Given the description of an element on the screen output the (x, y) to click on. 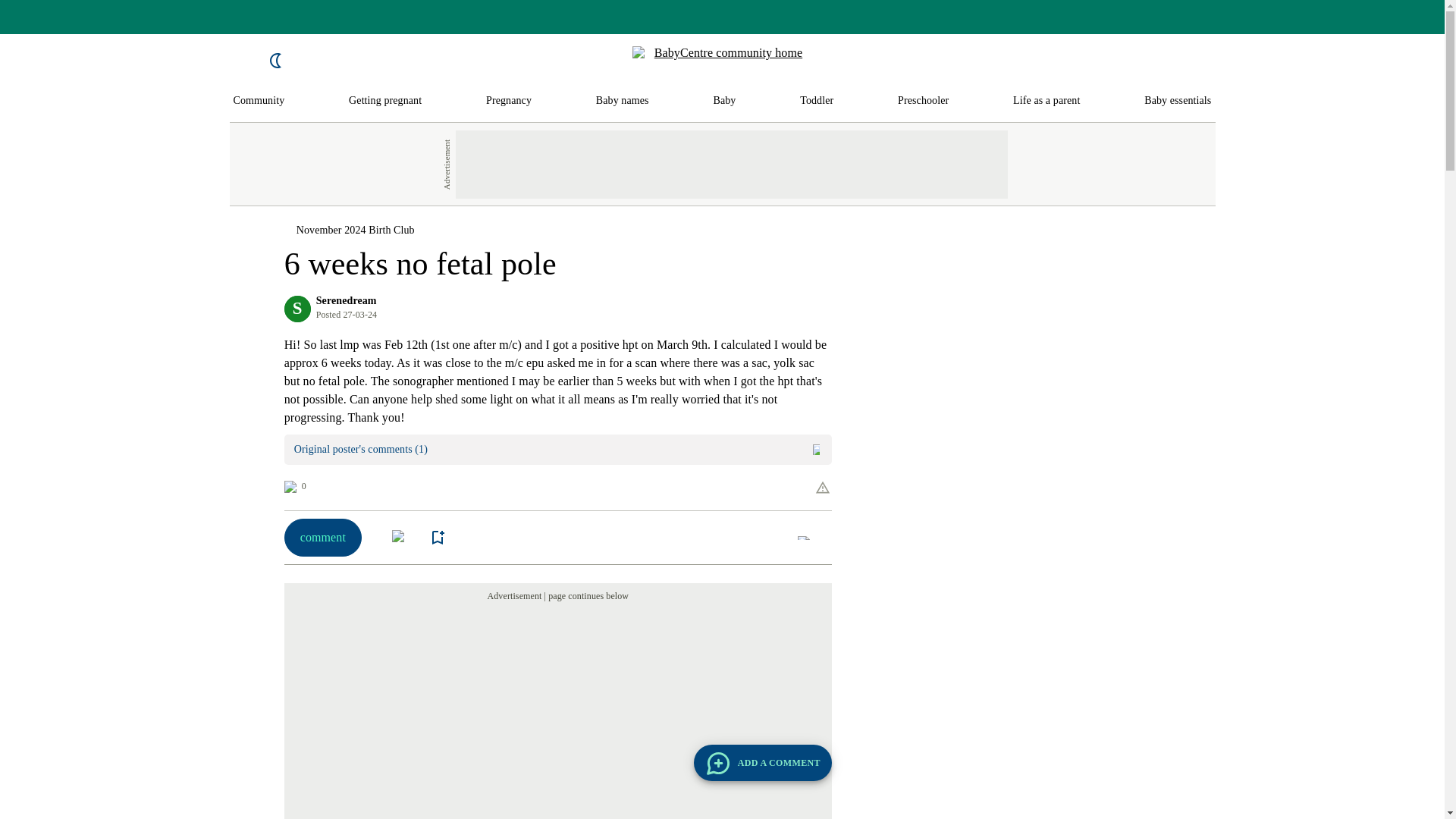
Baby names (622, 101)
Pregnancy (508, 101)
Community (258, 101)
Toddler (815, 101)
Getting pregnant (385, 101)
Baby essentials (1177, 101)
Baby (724, 101)
Preschooler (923, 101)
Life as a parent (1046, 101)
